Given the description of an element on the screen output the (x, y) to click on. 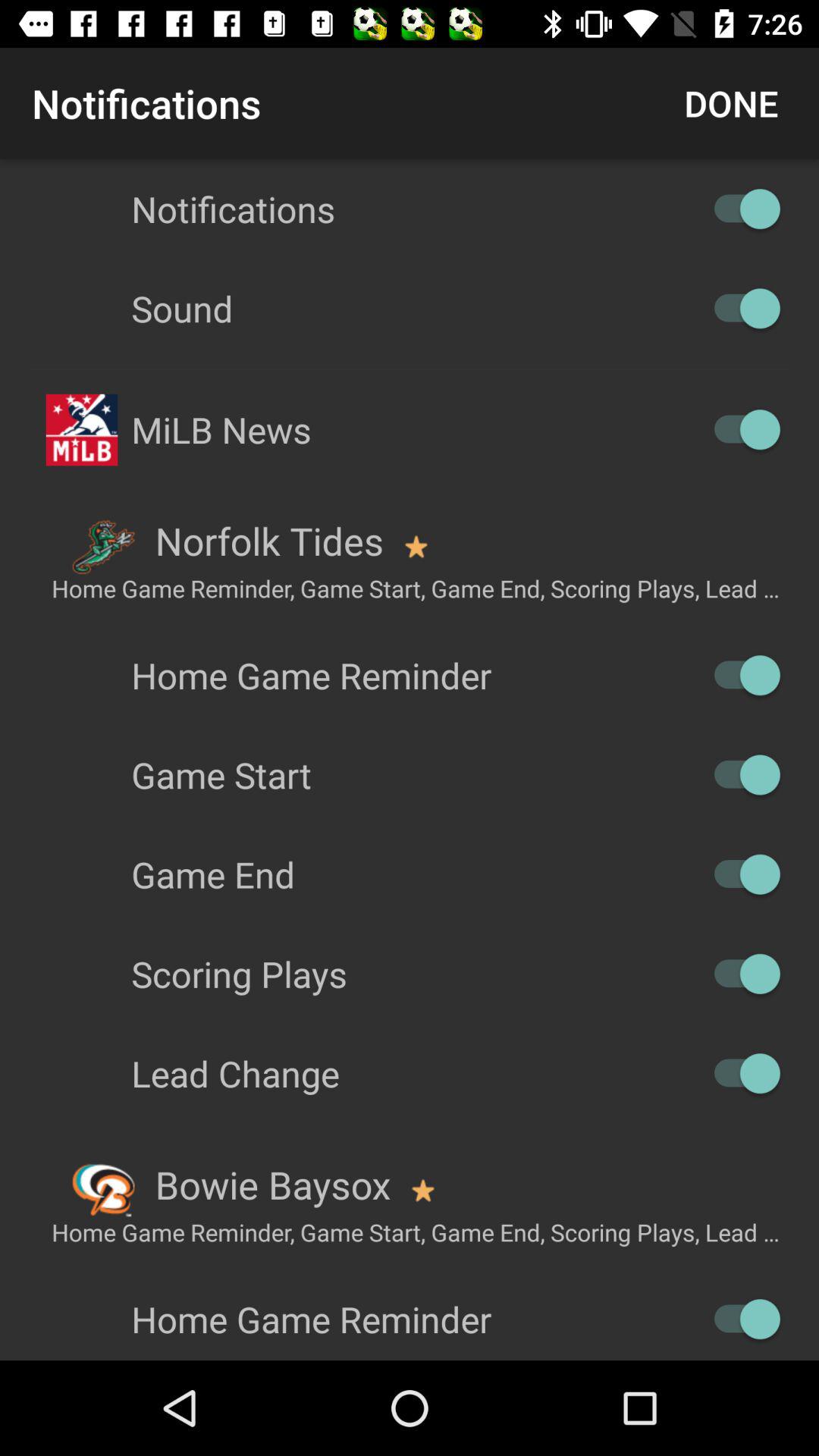
toggle reminder option (739, 1319)
